Given the description of an element on the screen output the (x, y) to click on. 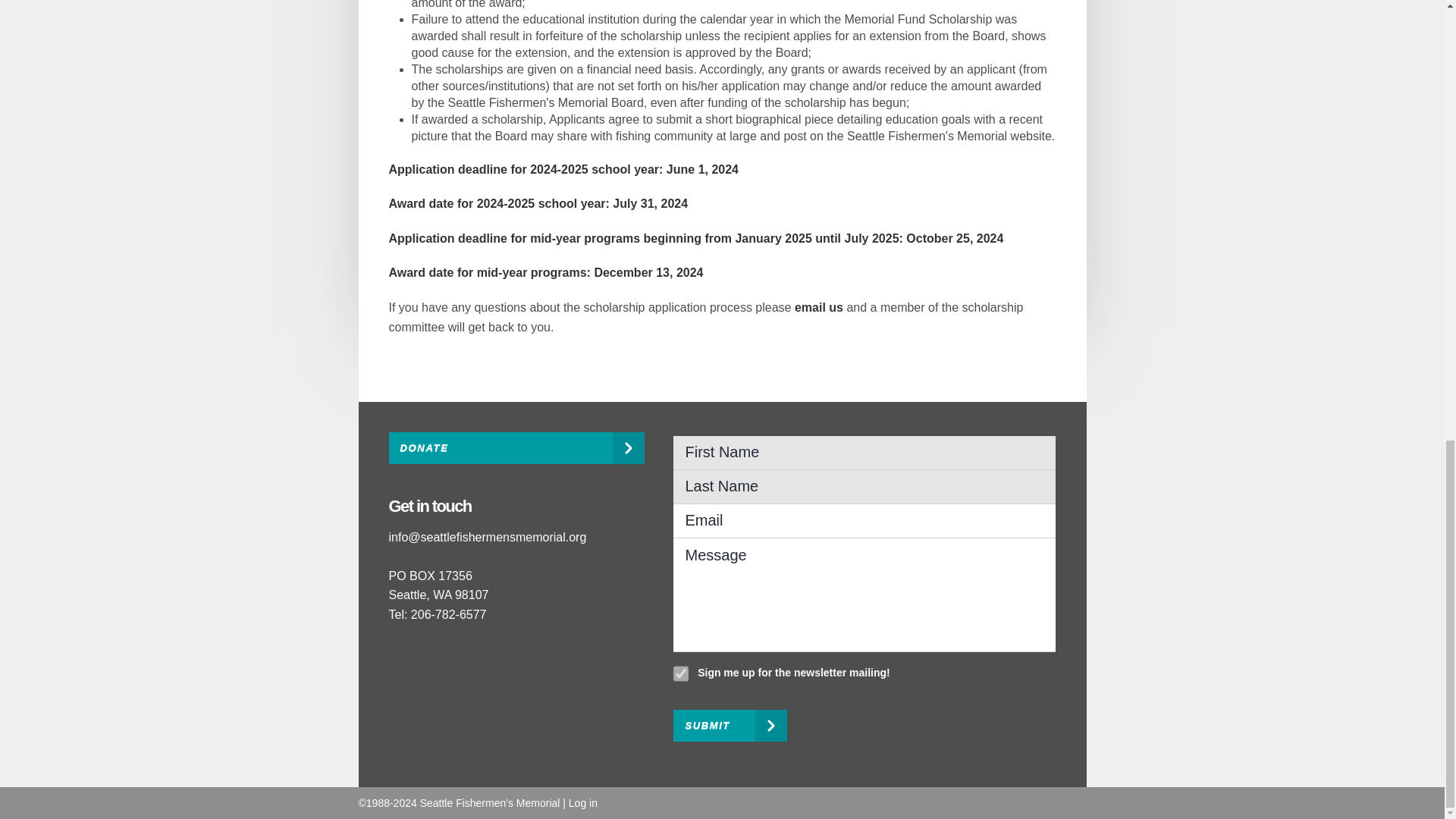
Log in (582, 802)
Seattle Fishermen's Memorial (490, 802)
DONATE (516, 448)
206-782-6577 (448, 614)
email us (818, 307)
SUBMIT (729, 726)
